Given the description of an element on the screen output the (x, y) to click on. 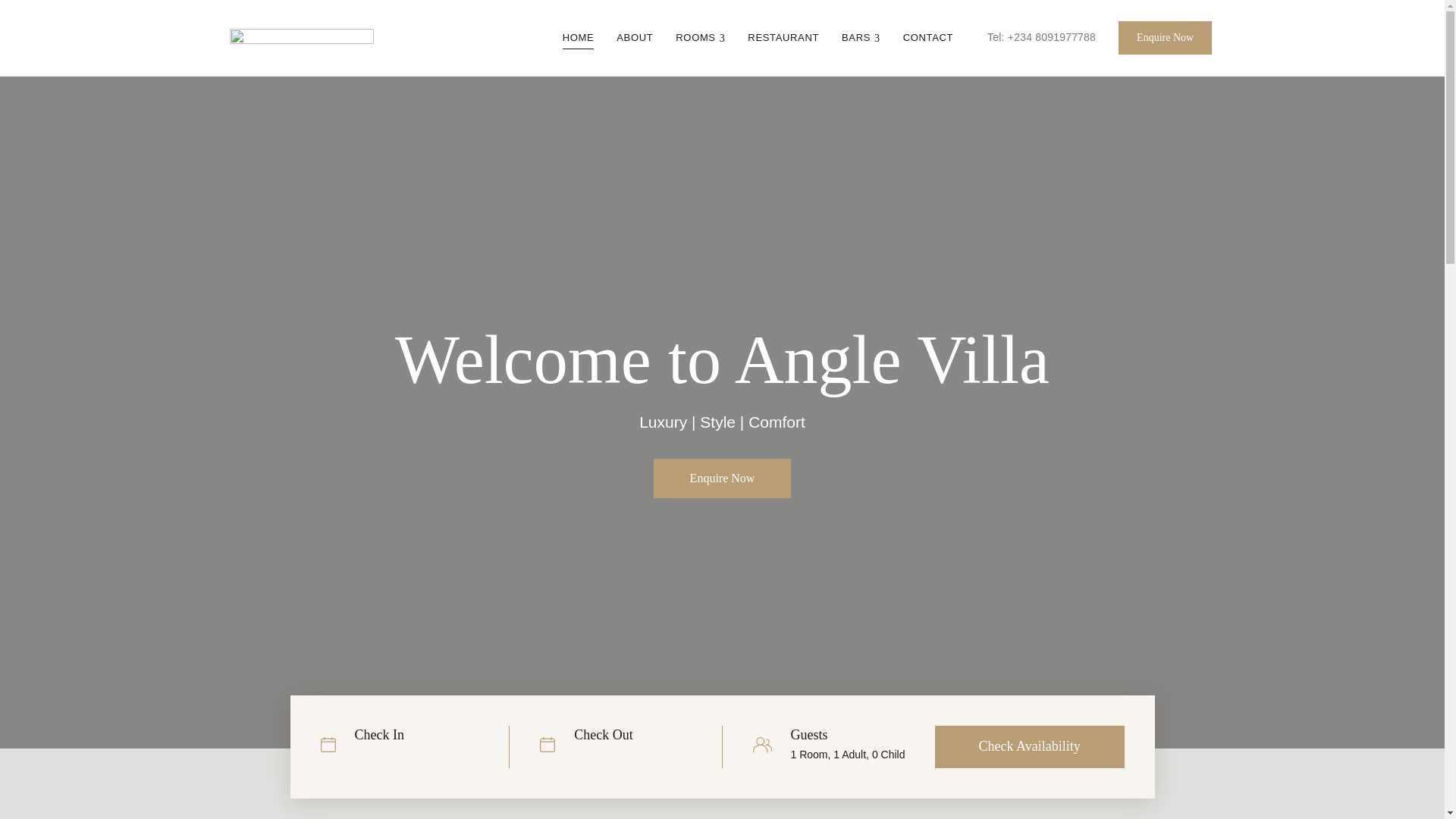
1 Room, 1 Adult, 0 Child (862, 754)
Enquire Now (722, 477)
RESTAURANT (782, 37)
HOME (578, 37)
Enquire Now (1164, 37)
ABOUT (634, 37)
CONTACT (927, 37)
BARS (860, 37)
ROOMS (699, 37)
